Given the description of an element on the screen output the (x, y) to click on. 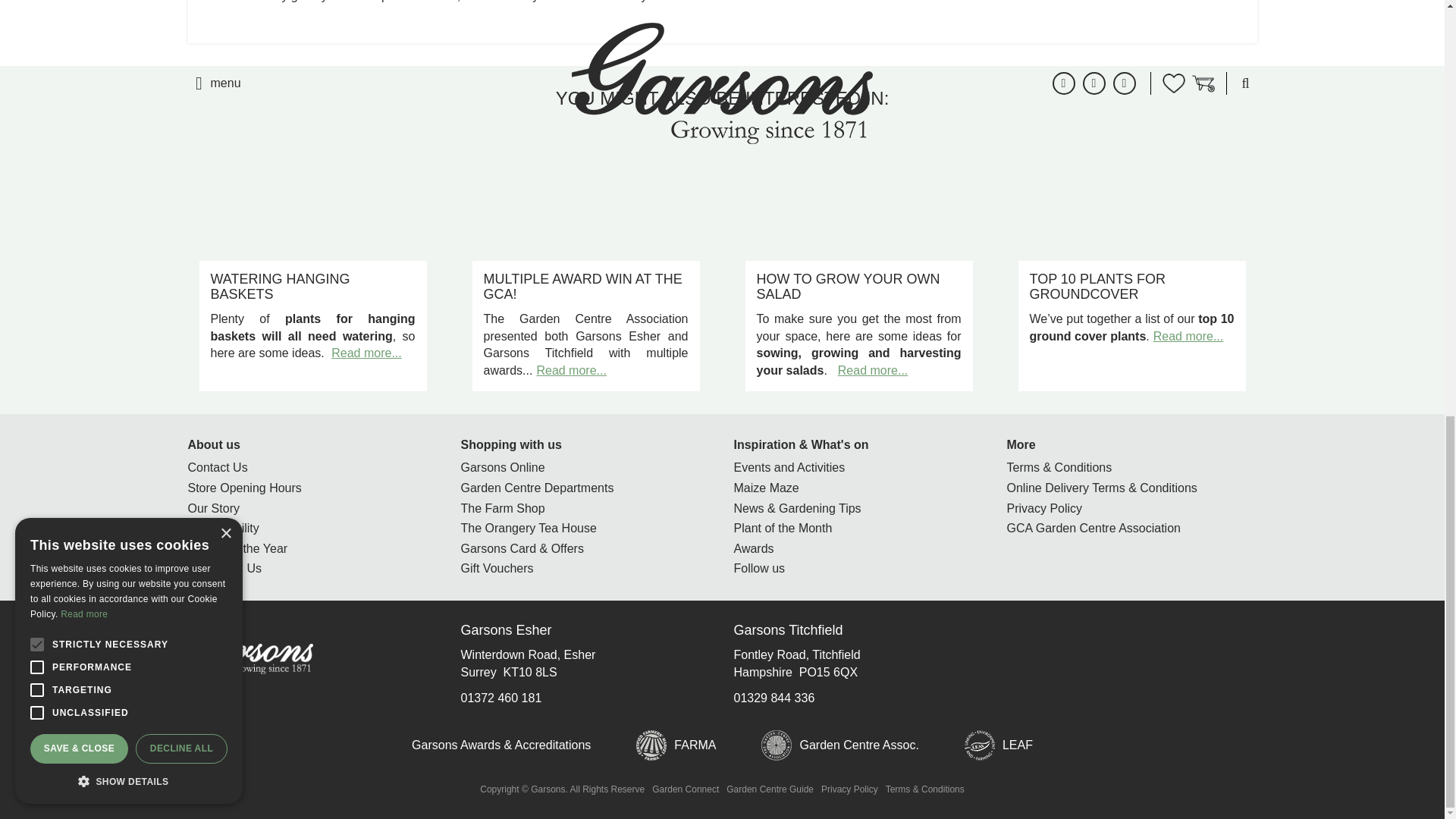
Read more... (570, 369)
HOW TO GROW YOUR OWN SALAD (848, 286)
TOP 10 PLANTS FOR GROUNDCOVER (1097, 286)
Read more... (872, 369)
MULTIPLE AWARD WIN AT THE GCA! (582, 286)
WATERING HANGING BASKETS (280, 286)
Read more... (366, 352)
